Given the description of an element on the screen output the (x, y) to click on. 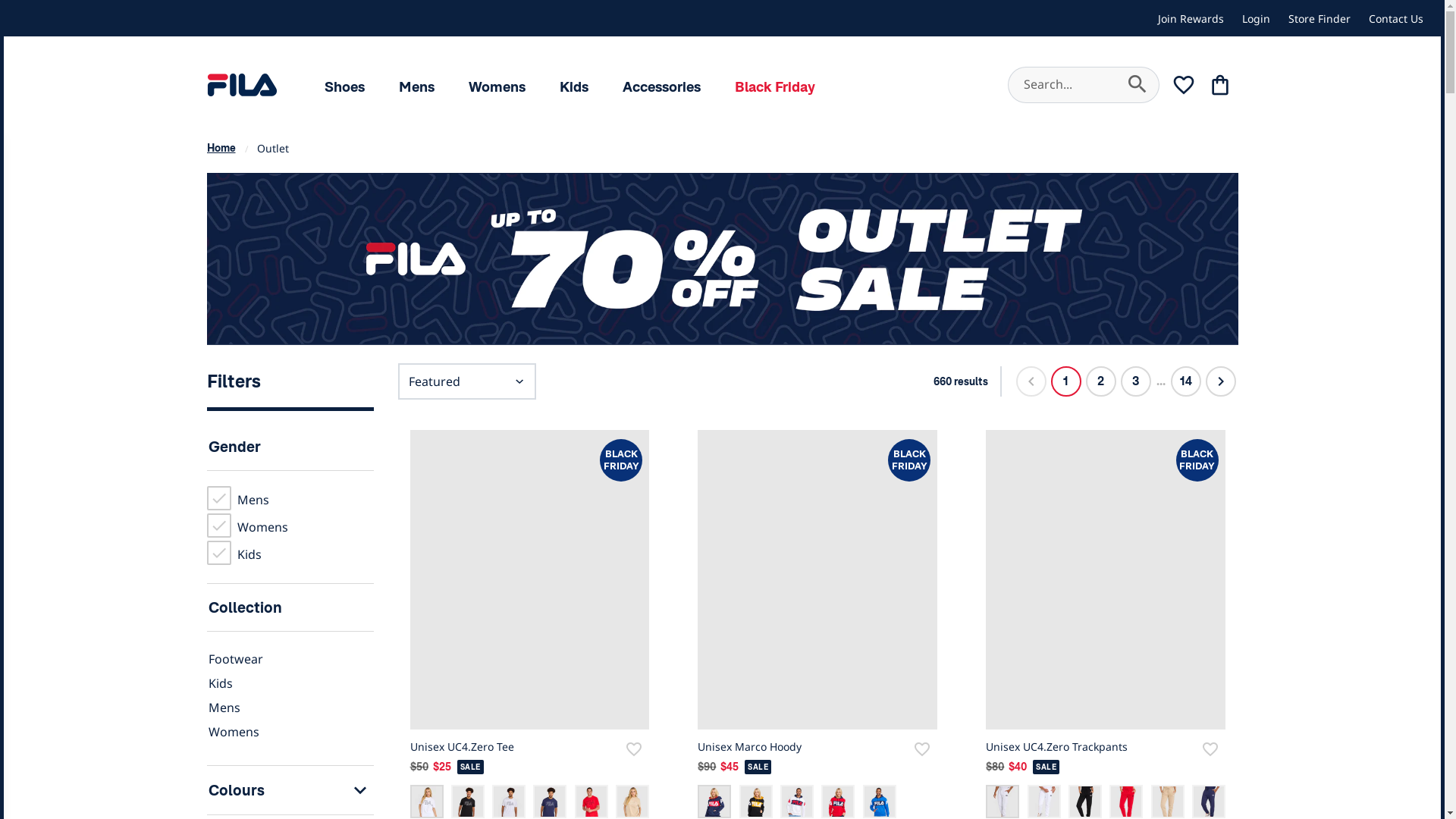
BLACK
FRIDAY Element type: text (817, 579)
page
14 Element type: text (1185, 381)
Unisex Marco Hoody Element type: text (749, 746)
Search...
search Element type: text (1082, 84)
Footwear Element type: text (234, 658)
Kids Element type: text (573, 87)
page
2 Element type: text (1100, 381)
Shoes Element type: text (344, 87)
Womens Element type: text (496, 87)
Home Element type: text (220, 147)
Accessories Element type: text (661, 87)
Mens Element type: text (223, 707)
Unisex UC4.Zero Tee Element type: text (461, 746)
favorite_border Element type: text (1182, 84)
shopping_bag Element type: text (1219, 84)
page
3 Element type: text (1135, 381)
Womens Element type: text (232, 731)
Go to homepage Element type: hover (241, 84)
BLACK
FRIDAY Element type: text (1105, 579)
Black Friday Element type: text (774, 87)
BLACK
FRIDAY Element type: text (529, 579)
Mens Element type: text (416, 87)
Join Rewards Element type: text (1190, 18)
Store Finder Element type: text (1319, 18)
Contact Us Element type: text (1395, 18)
Next page
chevron_right Element type: text (1220, 381)
Unisex UC4.Zero Trackpants Element type: text (1056, 746)
Colours
expand_more Element type: text (289, 789)
Kids Element type: text (219, 682)
Login Element type: text (1256, 18)
